Given the description of an element on the screen output the (x, y) to click on. 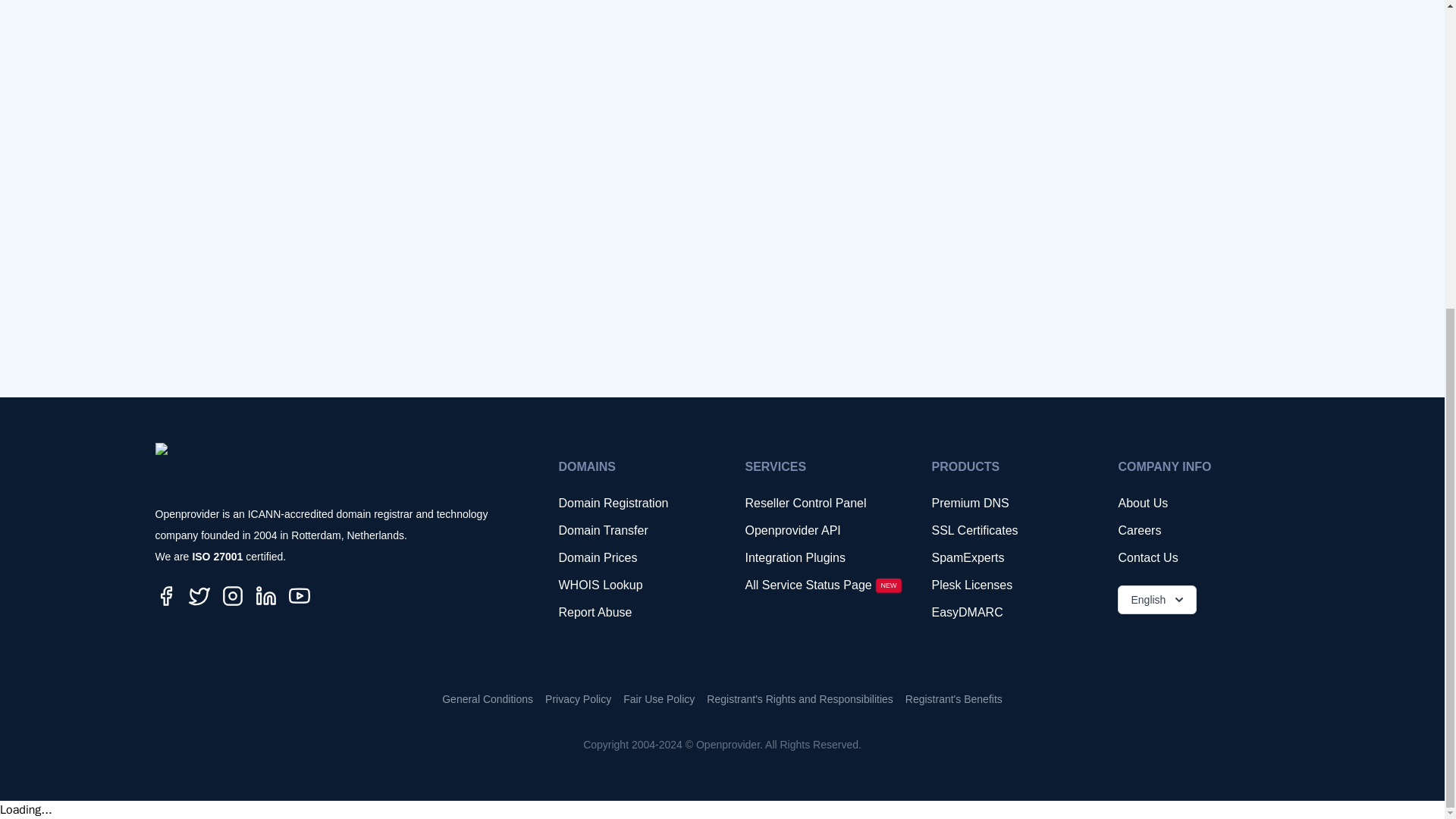
SSL Certificates (1009, 530)
Openprovider API (822, 530)
About Us (1196, 503)
Fair Use Policy (658, 698)
Openprovider on Facebook (165, 595)
Plesk Licenses (1009, 585)
Domain Prices (635, 557)
SpamExperts (1009, 557)
General Conditions (487, 698)
Careers (1196, 530)
Openprovider on Linkedin (265, 595)
Privacy Policy (577, 698)
English (1157, 599)
Openprovider on Twitter (198, 595)
Premium DNS (1009, 503)
